Given the description of an element on the screen output the (x, y) to click on. 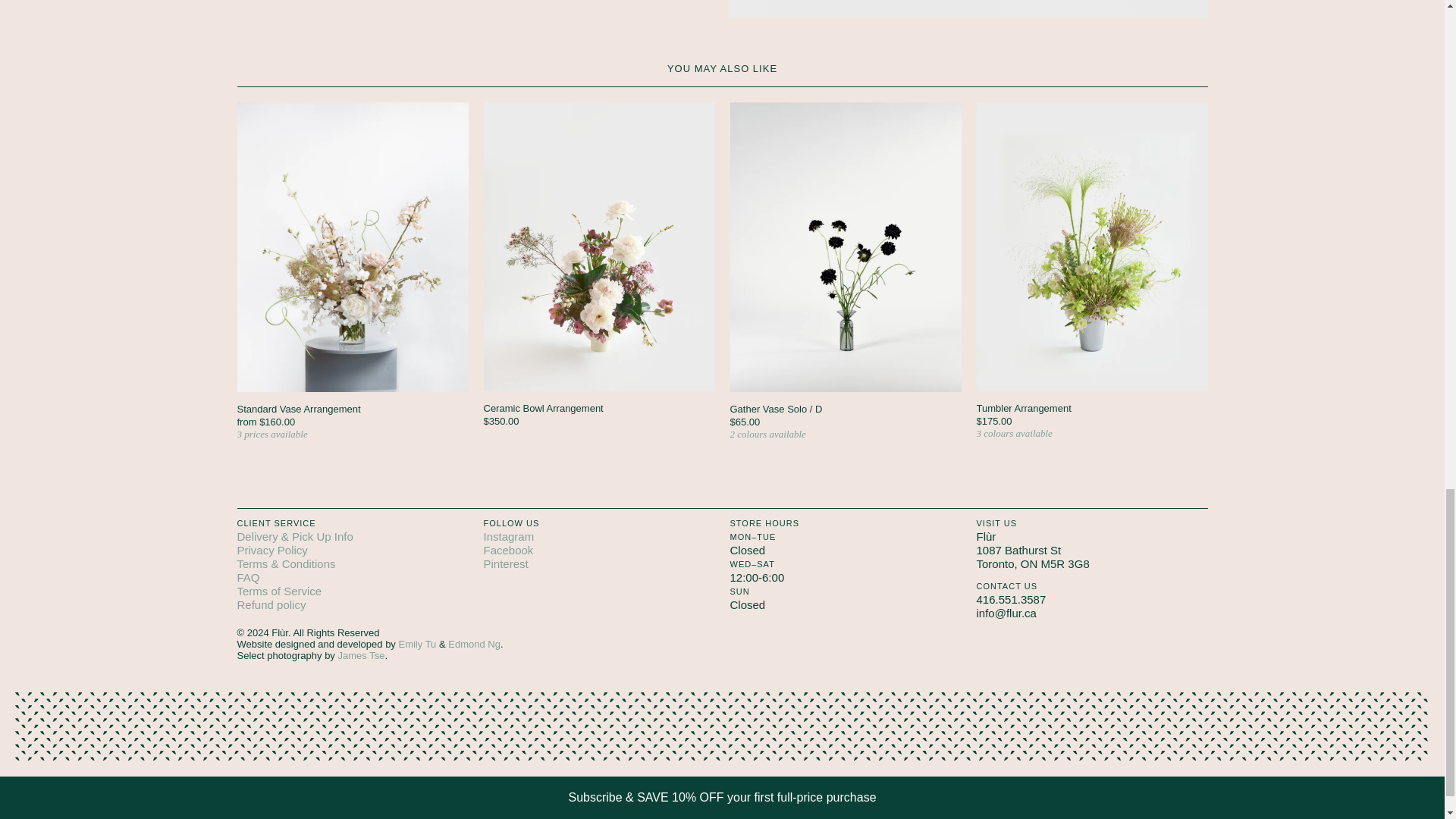
FAQ (247, 576)
Privacy Policy (271, 549)
